Given the description of an element on the screen output the (x, y) to click on. 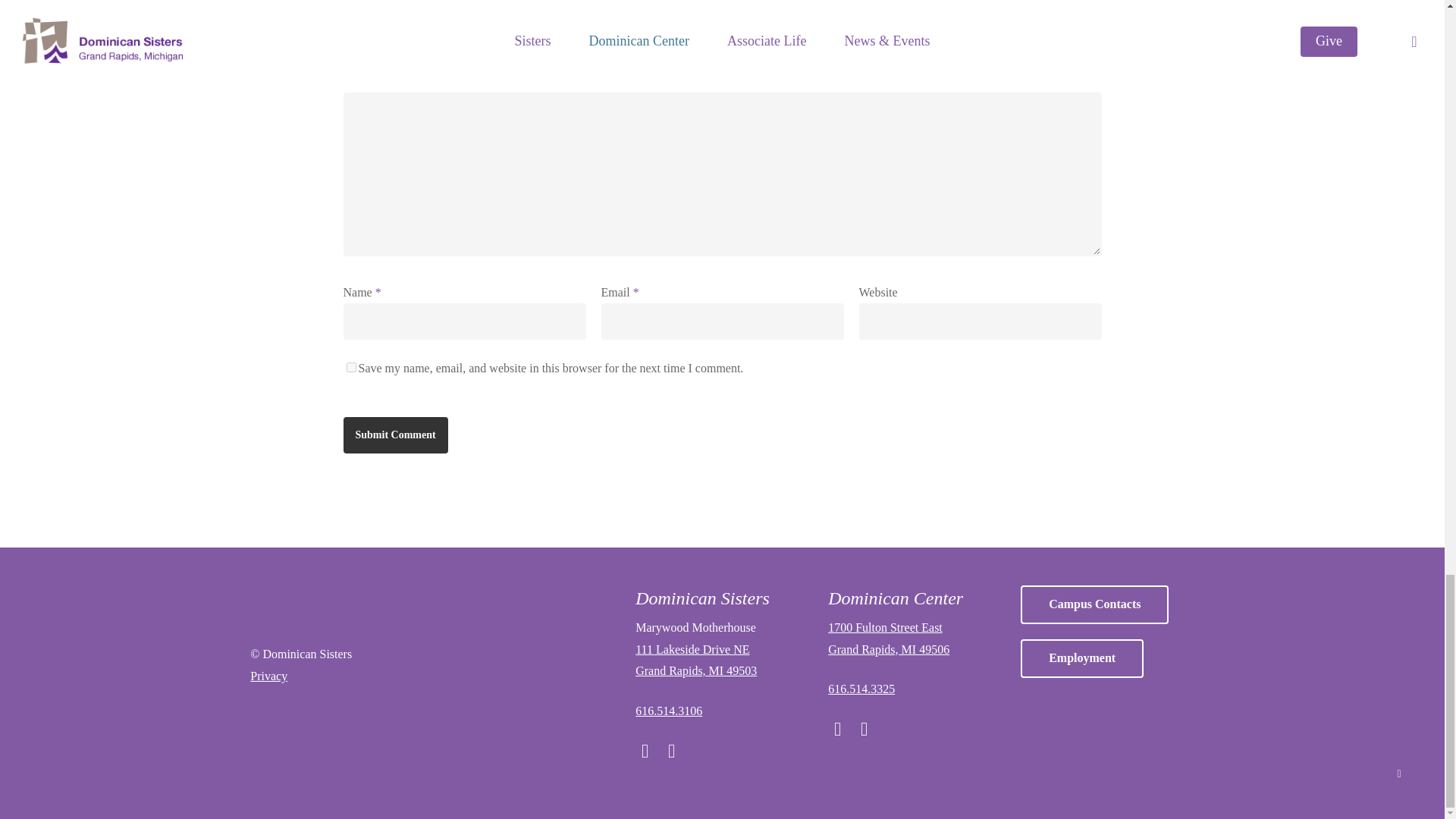
Submit Comment (394, 434)
yes (350, 367)
